Given the description of an element on the screen output the (x, y) to click on. 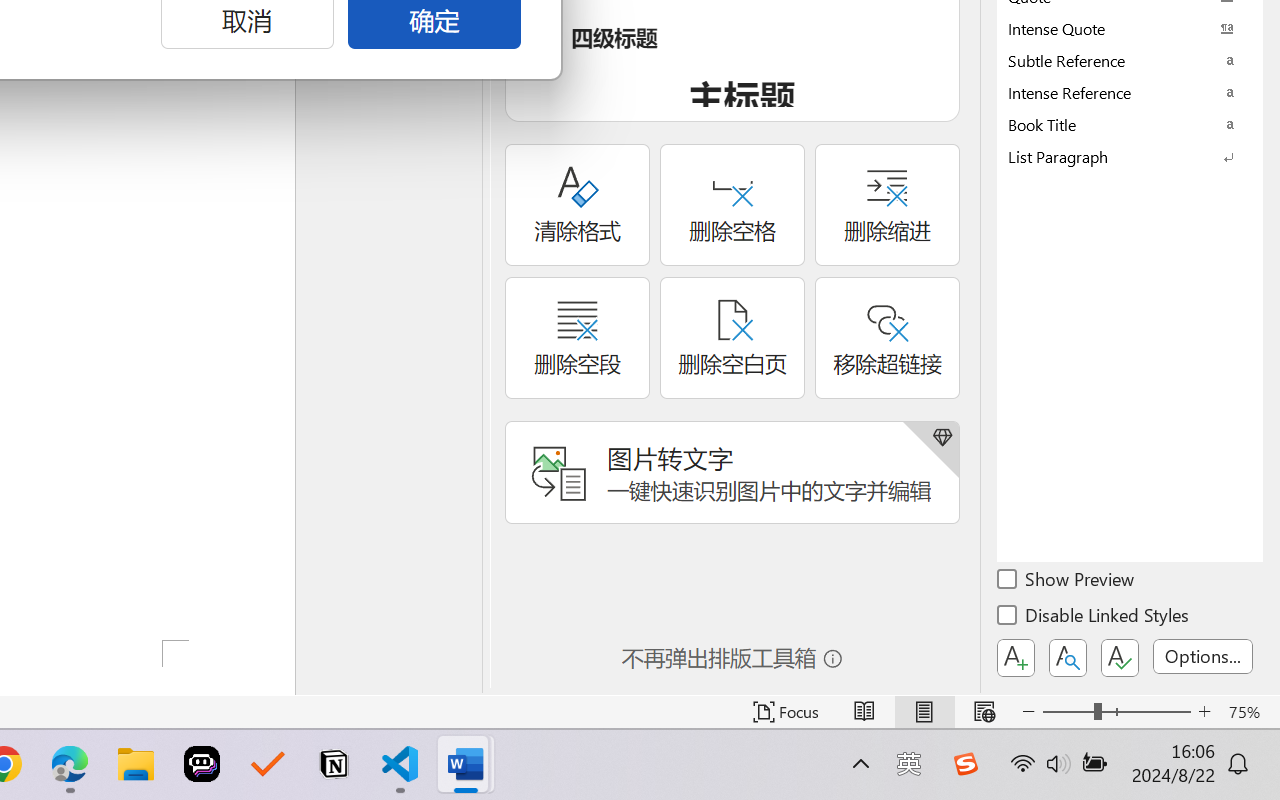
Subtle Reference (1130, 60)
Poe (201, 764)
Class: NetUIButton (1119, 657)
Zoom Out (1067, 712)
